Given the description of an element on the screen output the (x, y) to click on. 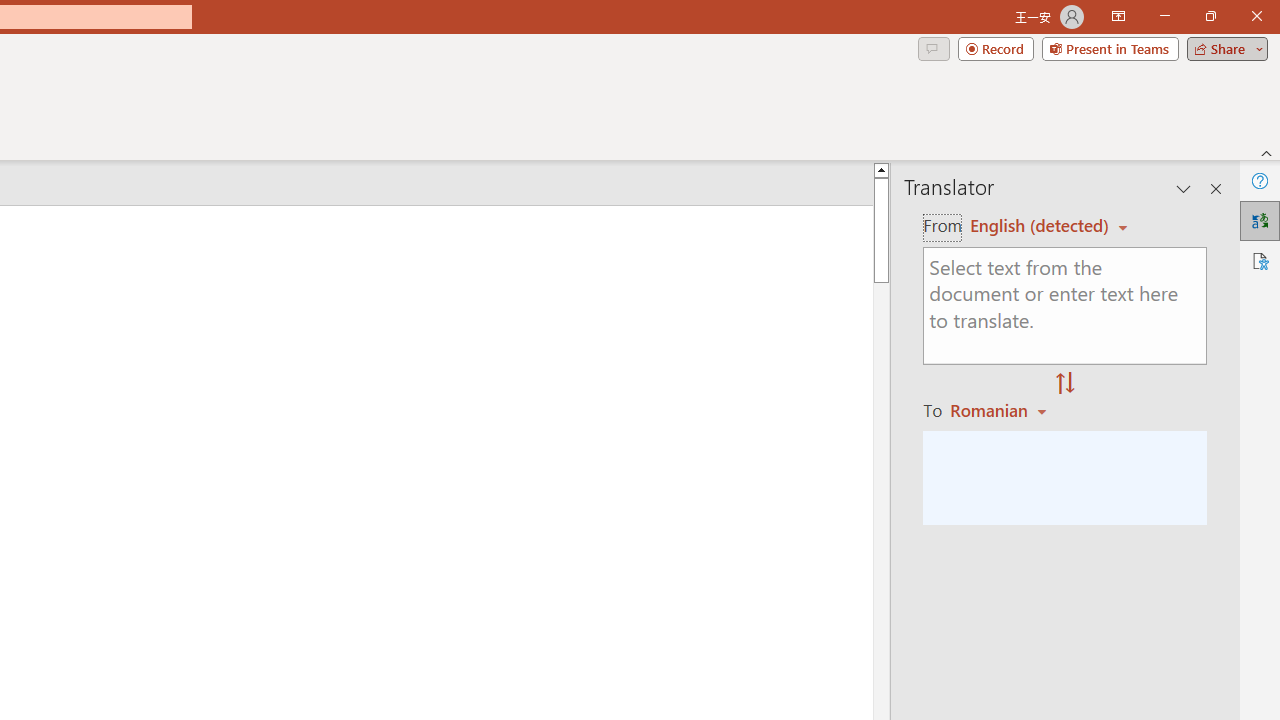
Czech (detected) (1039, 225)
